Given the description of an element on the screen output the (x, y) to click on. 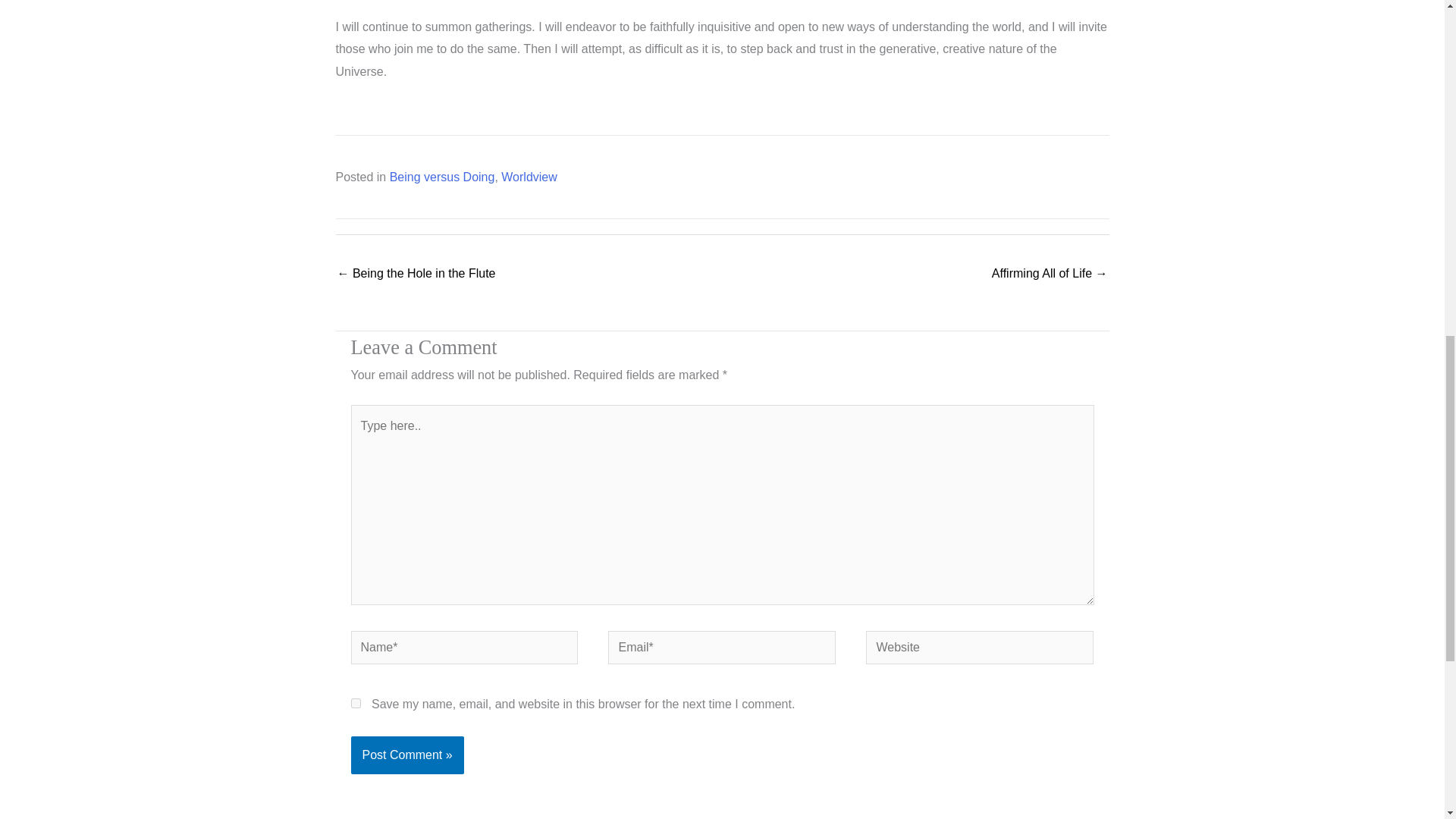
Worldview (528, 176)
Being versus Doing (442, 176)
yes (354, 703)
